Given the description of an element on the screen output the (x, y) to click on. 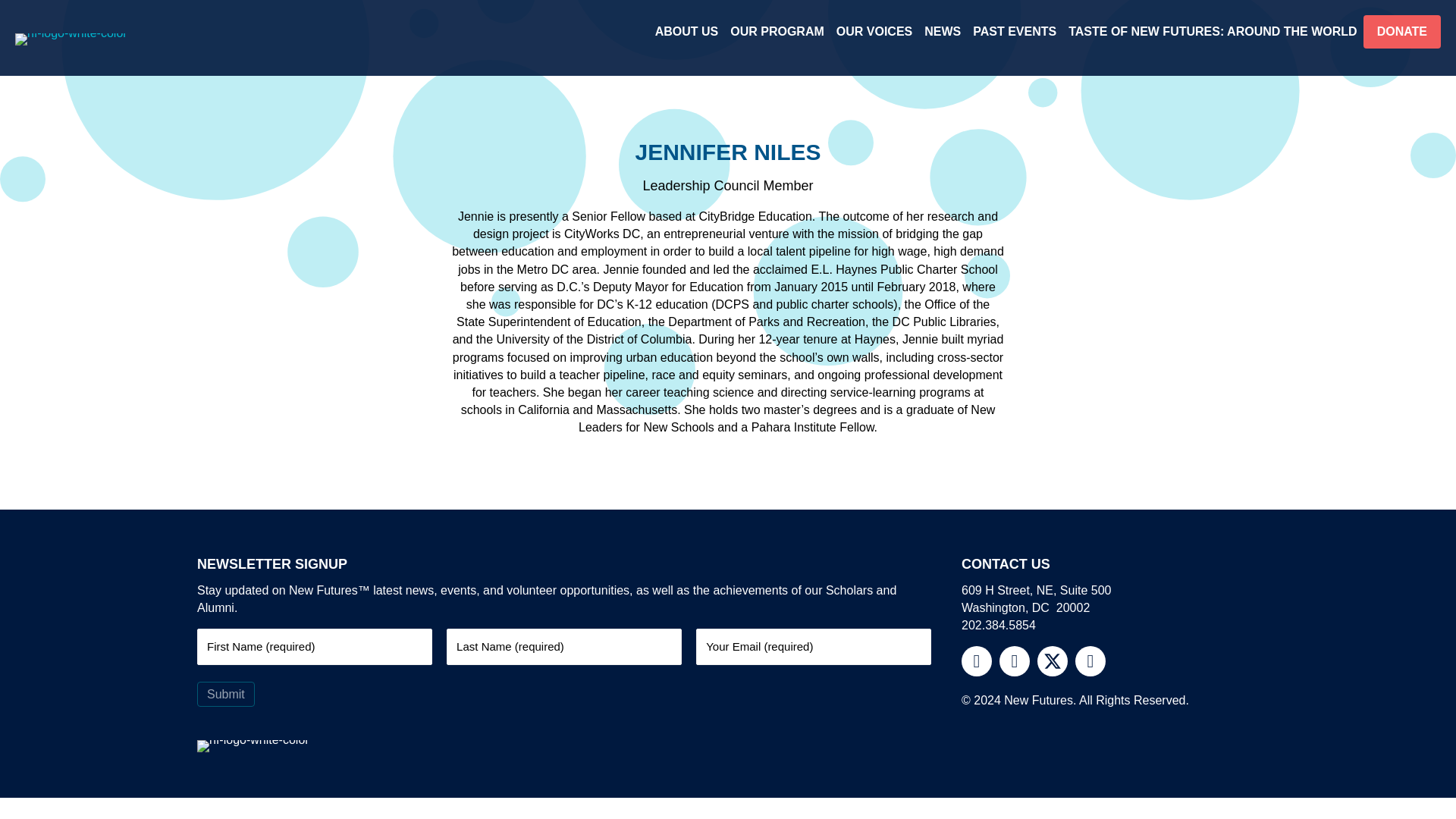
DONATE (1401, 31)
NEWS (942, 31)
TASTE OF NEW FUTURES: AROUND THE WORLD (1212, 31)
nf-logo-white-color (71, 39)
OUR PROGRAM (776, 31)
ABOUT US (687, 31)
nf-logo-white-color (252, 746)
LinkedIn (1090, 661)
PAST EVENTS (1014, 31)
Submit (225, 693)
